Given the description of an element on the screen output the (x, y) to click on. 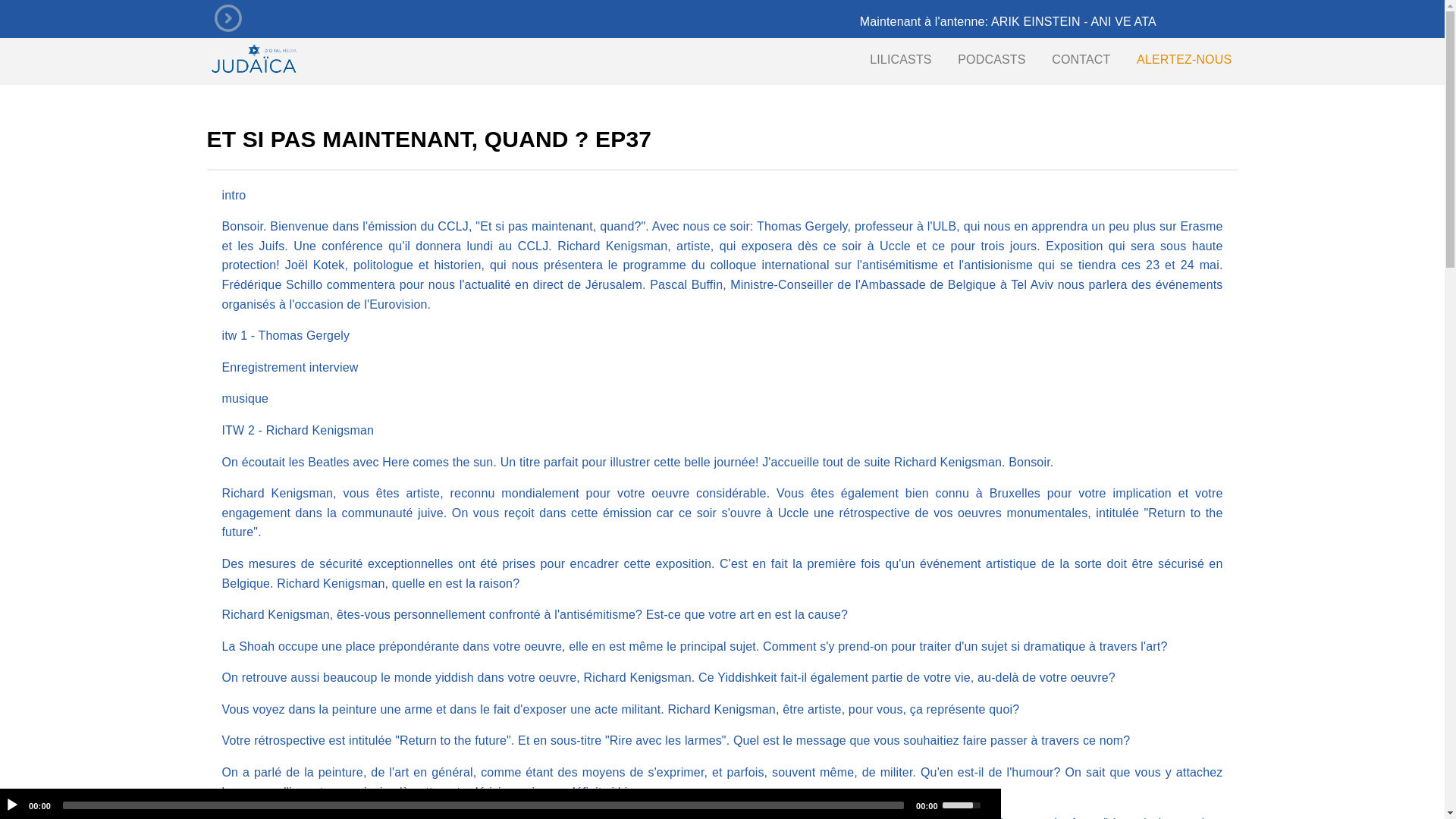
ALERTEZ-NOUS Element type: text (1183, 59)
musique Element type: text (244, 398)
Play Element type: hover (11, 804)
itw 1 - Thomas Gergely Element type: text (285, 335)
LILICASTS Element type: text (900, 59)
Use Up/Down Arrow keys to increase or decrease volume. Element type: text (963, 803)
intro Element type: text (233, 194)
CONTACT Element type: text (1080, 59)
Enregistrement interview Element type: text (289, 366)
ITW 2 - Richard Kenigsman Element type: text (297, 429)
PODCASTS Element type: text (991, 59)
